Given the description of an element on the screen output the (x, y) to click on. 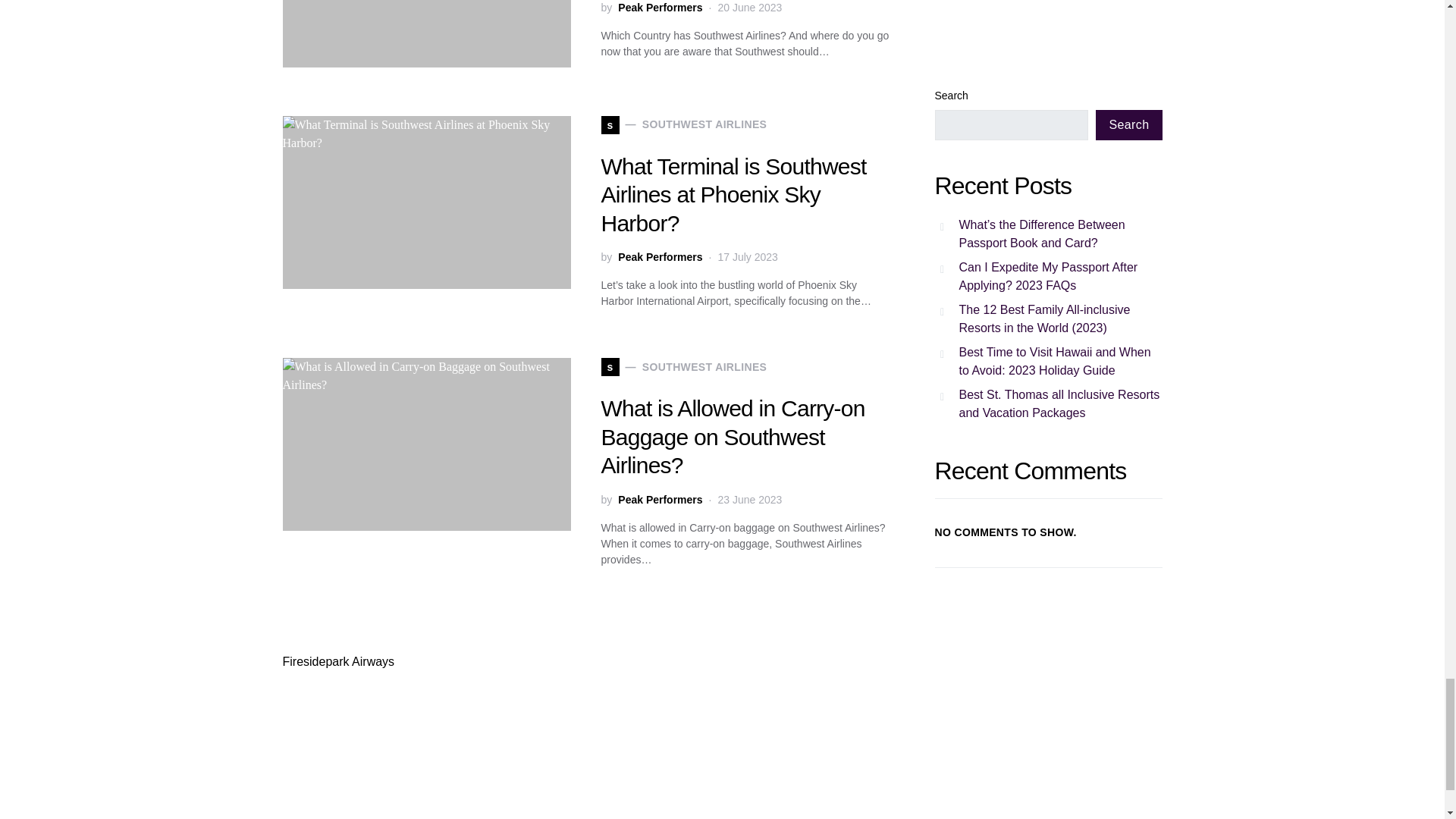
View all posts by Peak Performers (659, 498)
View all posts by Peak Performers (659, 257)
View all posts by Peak Performers (659, 7)
